Given the description of an element on the screen output the (x, y) to click on. 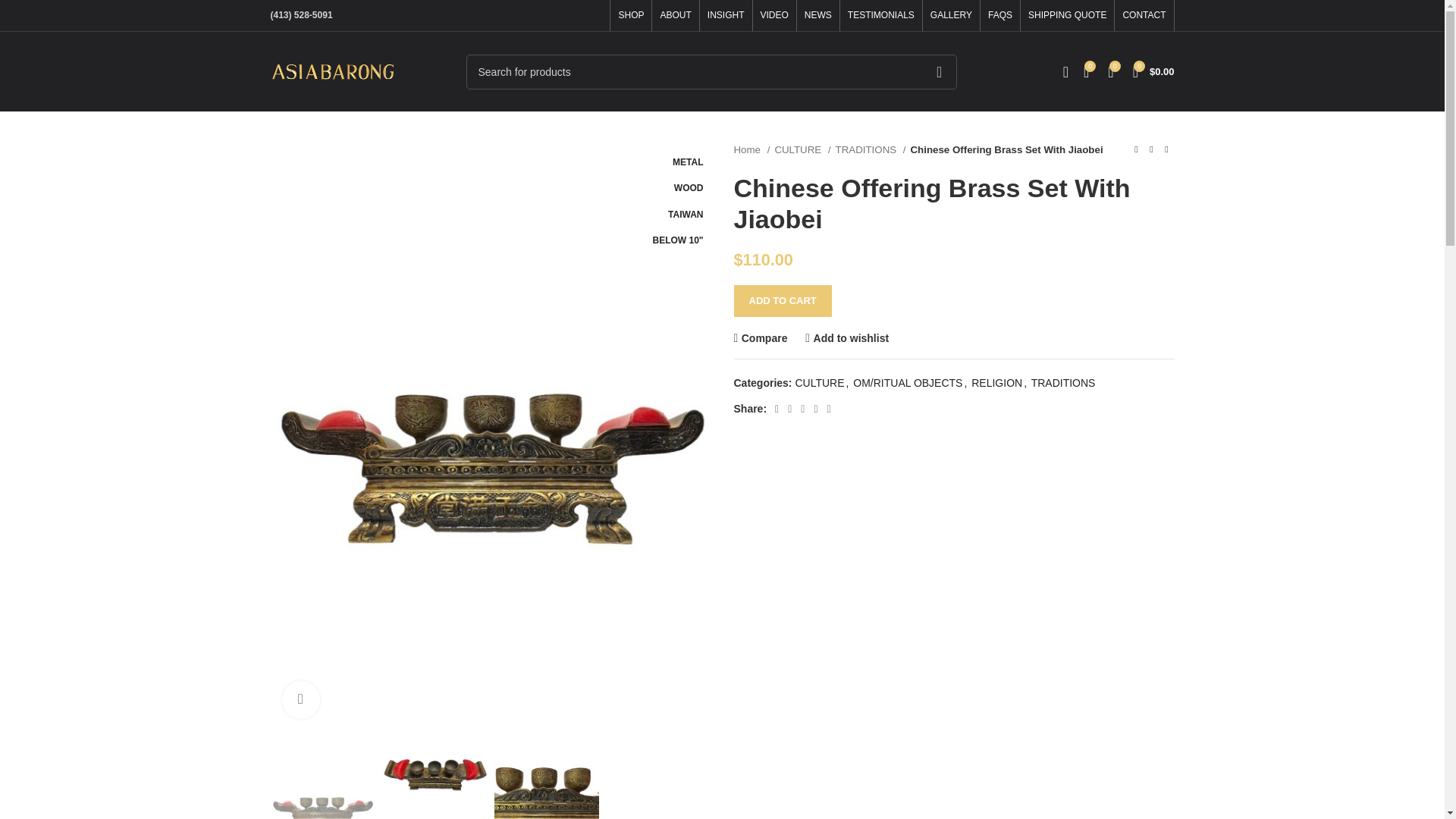
Search for products (710, 71)
CONTACT (1144, 15)
Home (751, 149)
TESTIMONIALS (880, 15)
Add to wishlist (846, 337)
VIDEO (773, 15)
ABOUT (674, 15)
ADD TO CART (782, 300)
INSIGHT (725, 15)
SHIPPING QUOTE (1066, 15)
